Given the description of an element on the screen output the (x, y) to click on. 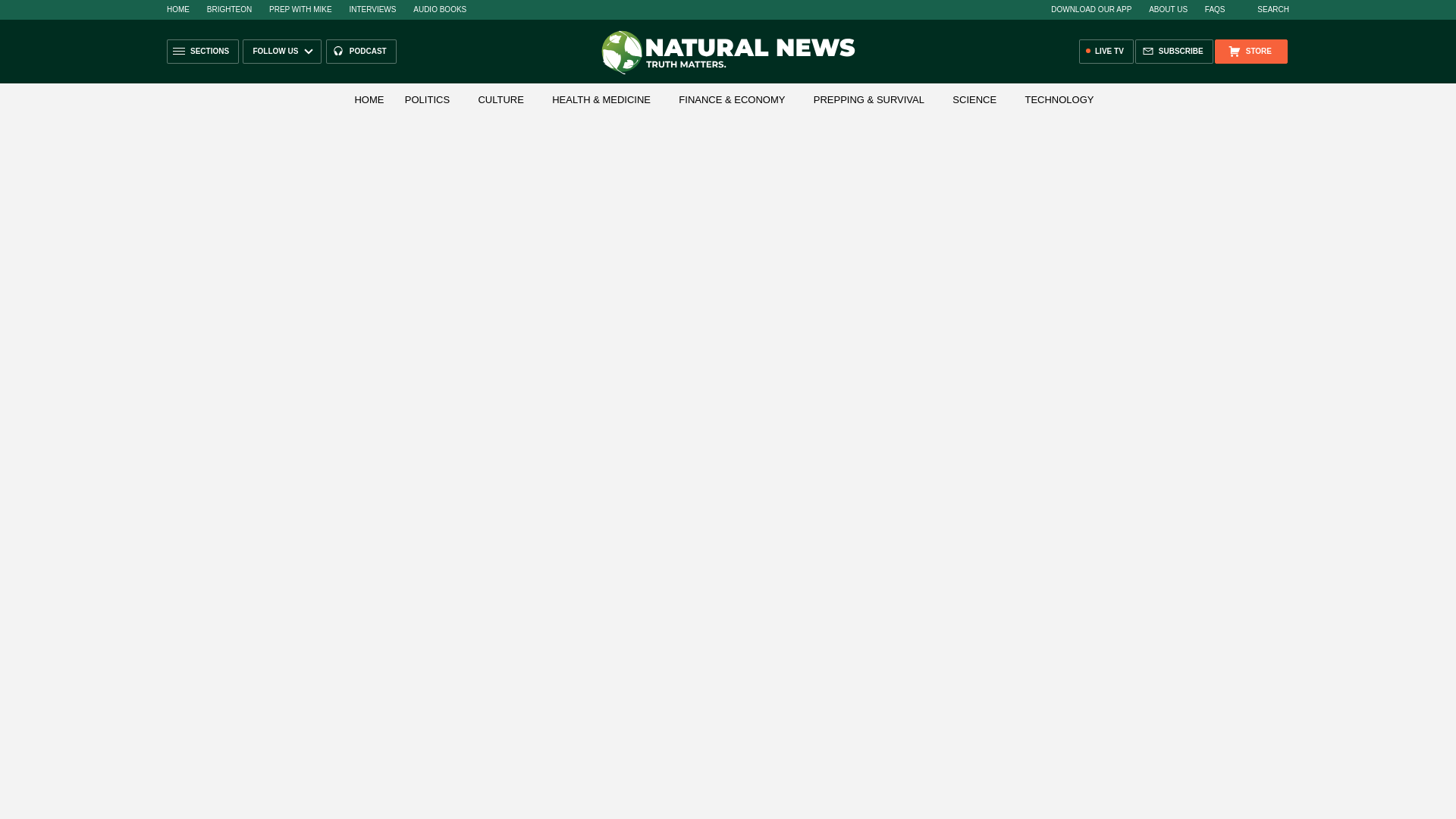
SUBSCRIBE (1173, 51)
PODCAST (361, 51)
FAQS (1215, 8)
HOME (178, 8)
SEARCH (1264, 8)
CULTURE (500, 99)
LIVE TV (1106, 51)
POLITICS (427, 99)
AUDIO BOOKS (439, 8)
BRIGHTEON (228, 8)
